Given the description of an element on the screen output the (x, y) to click on. 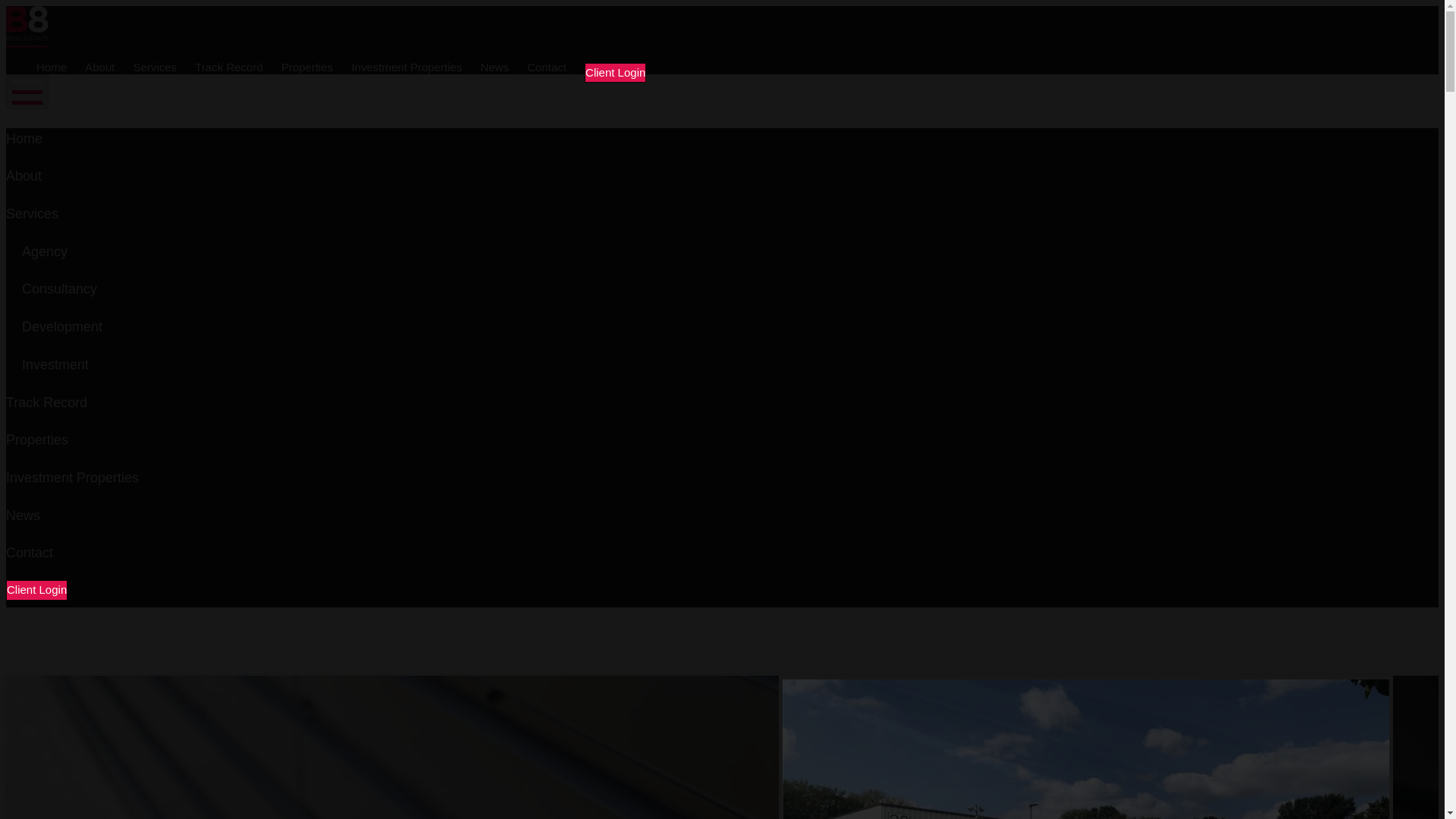
Consultancy (59, 288)
Development (61, 326)
News (22, 515)
Properties (307, 68)
Investment (54, 364)
About (23, 175)
Main menu (26, 91)
Investment Properties (71, 477)
Client Login (35, 589)
Services (31, 213)
Track Record (228, 68)
Agency (43, 251)
Track Record (46, 401)
